Given the description of an element on the screen output the (x, y) to click on. 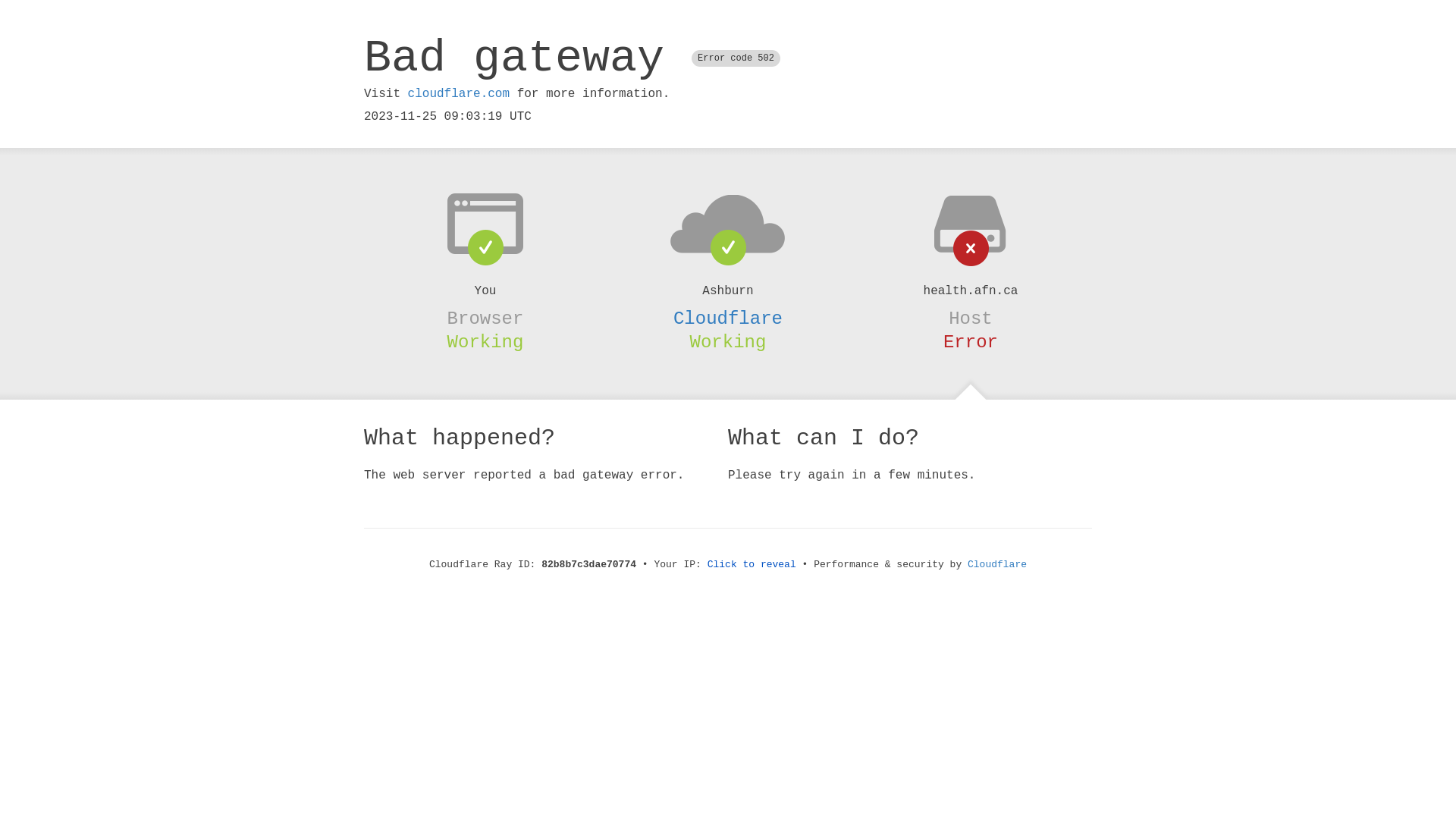
Cloudflare Element type: text (996, 564)
Click to reveal Element type: text (751, 564)
cloudflare.com Element type: text (458, 93)
Cloudflare Element type: text (727, 318)
